Given the description of an element on the screen output the (x, y) to click on. 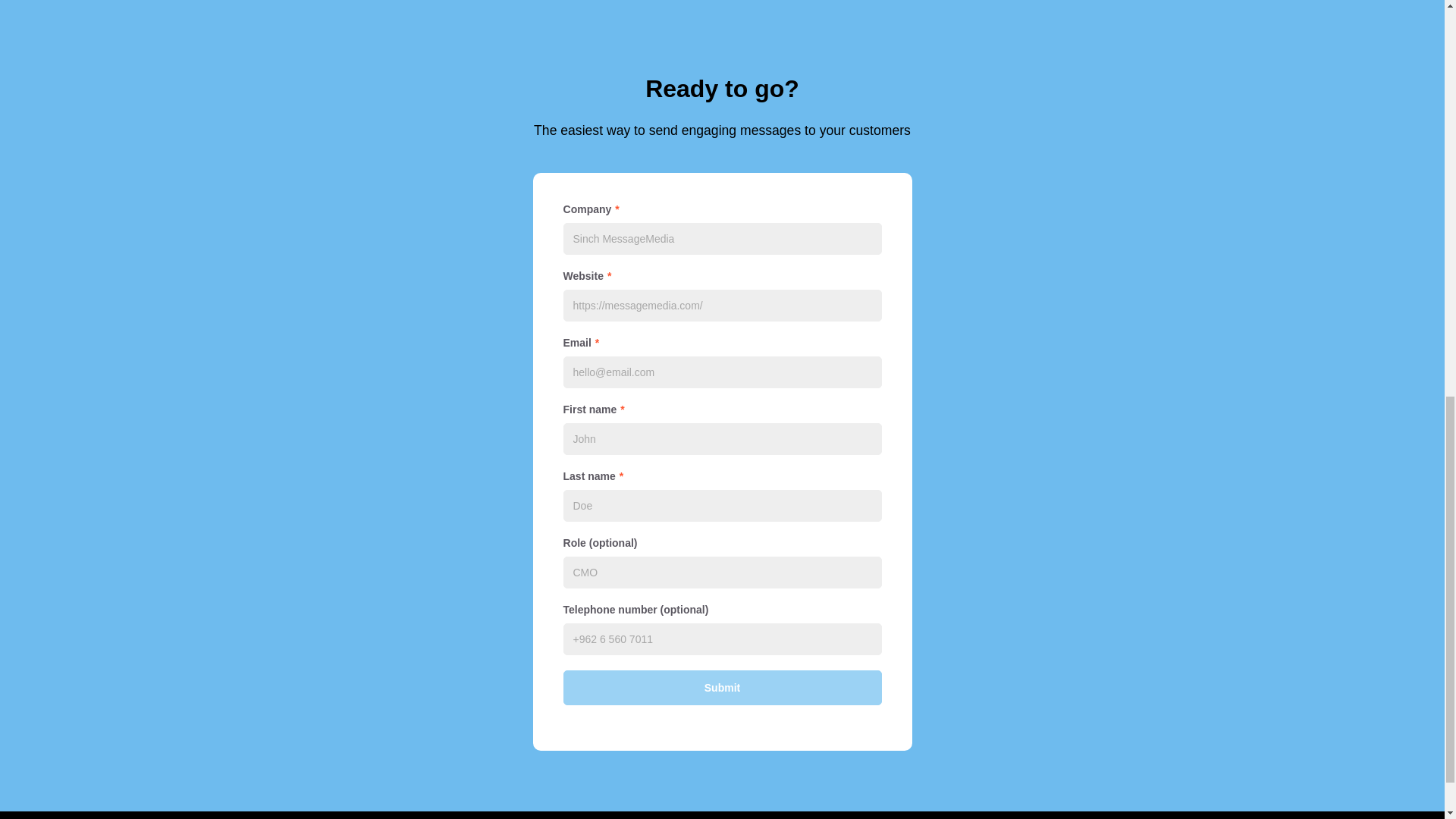
Submit (721, 687)
